Given the description of an element on the screen output the (x, y) to click on. 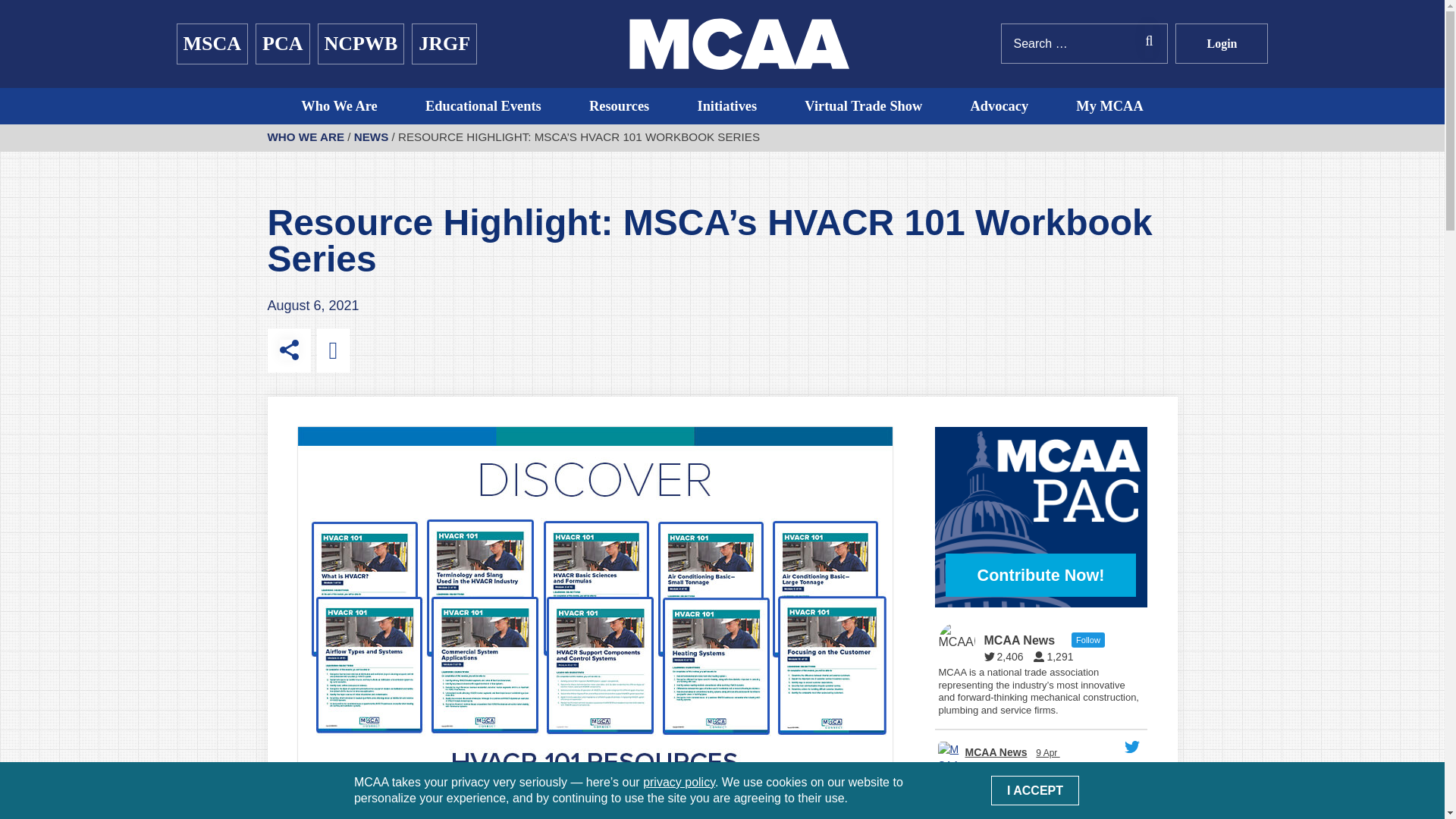
MSCA (211, 43)
Go to Who We Are. (304, 136)
Educational Events (484, 105)
NCPWB (360, 43)
Who We Are (338, 105)
PCA (282, 43)
Search for: (1084, 43)
JRGF (444, 43)
2,406 Tweets (1007, 656)
Resources (619, 105)
